Given the description of an element on the screen output the (x, y) to click on. 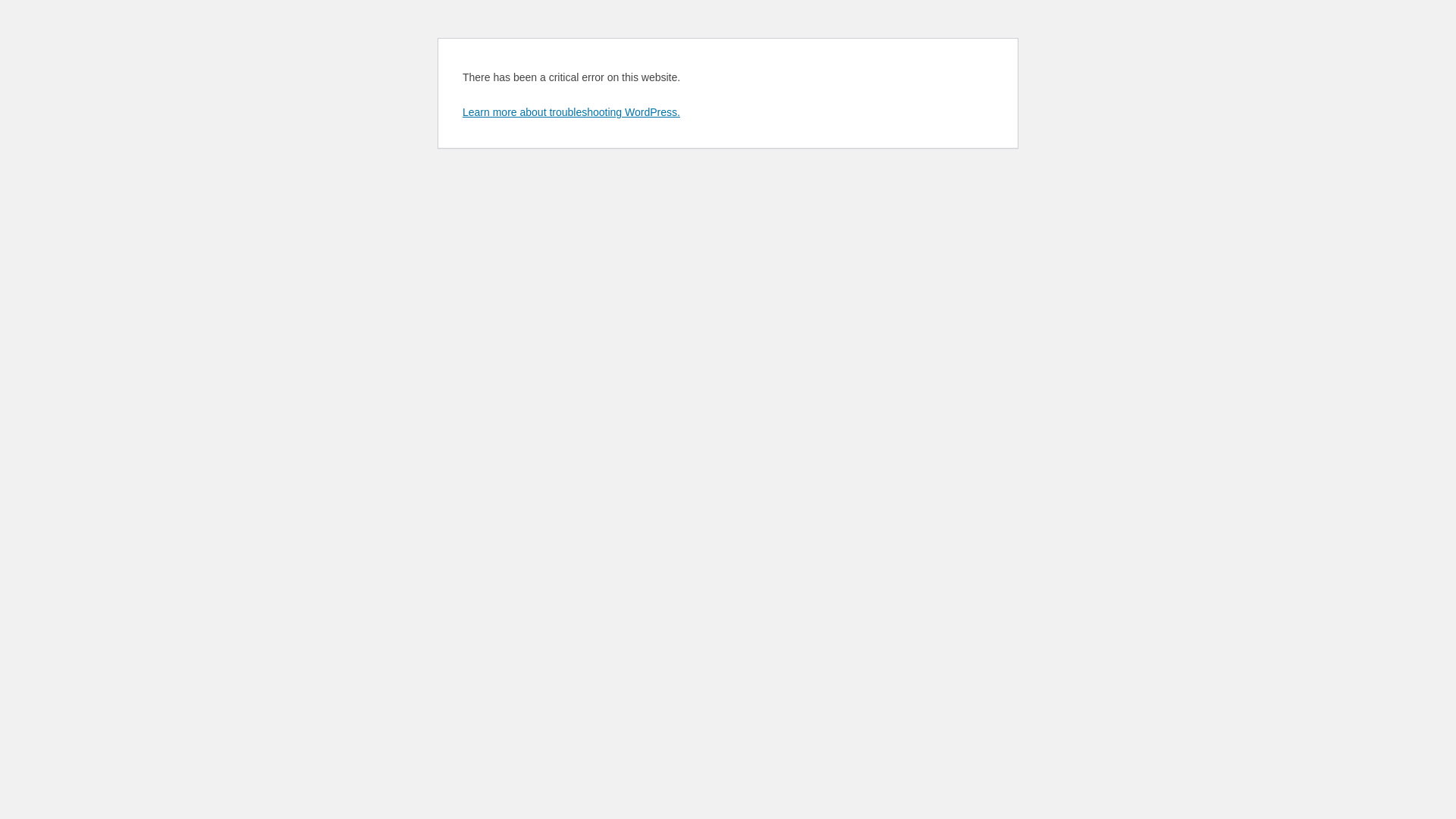
Learn more about troubleshooting WordPress. Element type: text (571, 112)
